Given the description of an element on the screen output the (x, y) to click on. 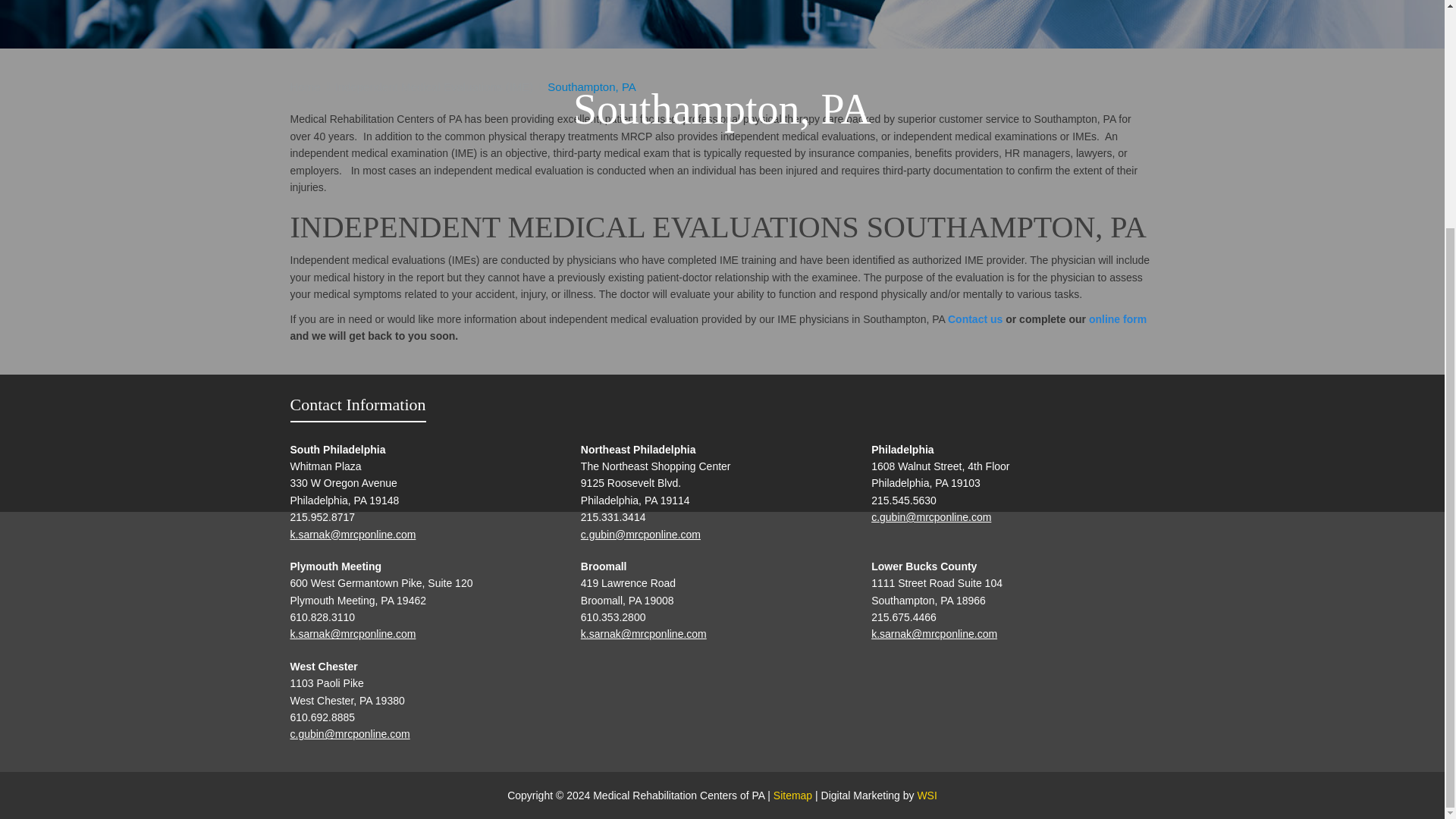
WSI (926, 795)
Contact us (975, 318)
Home (304, 86)
Sitemap (792, 795)
online form (1118, 318)
Home (304, 86)
